Given the description of an element on the screen output the (x, y) to click on. 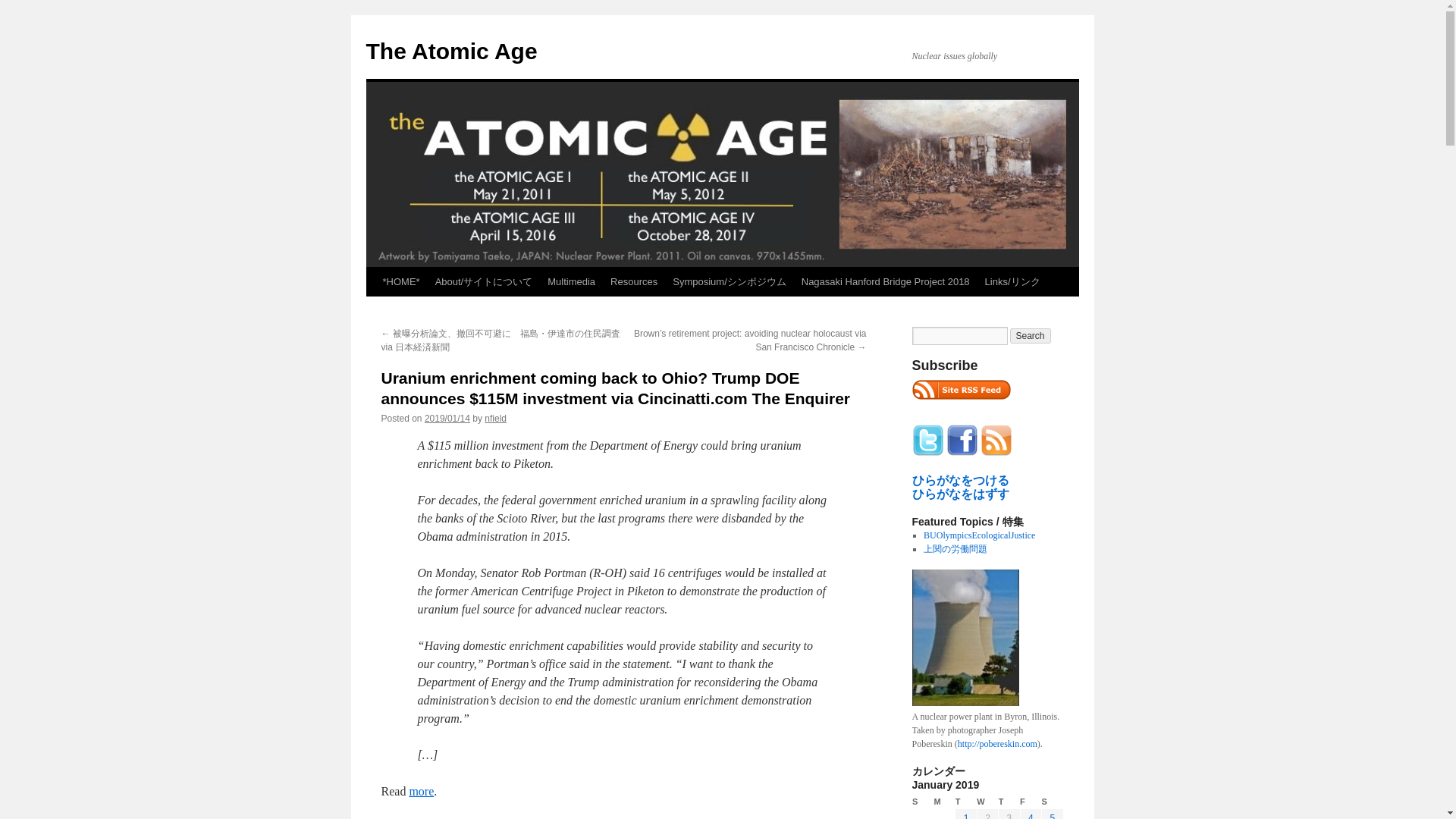
Search (1030, 335)
Tuesday (965, 801)
Friday (1030, 801)
nfield (495, 418)
Resources (633, 281)
Skip to content (372, 309)
RSS 2.0 feed for posts (960, 403)
10:35 pm (447, 418)
more (421, 790)
 latest posts (960, 389)
View all posts by nfield (495, 418)
Saturday (1052, 801)
The Atomic Age (451, 50)
Search (1030, 335)
Multimedia (571, 281)
